Given the description of an element on the screen output the (x, y) to click on. 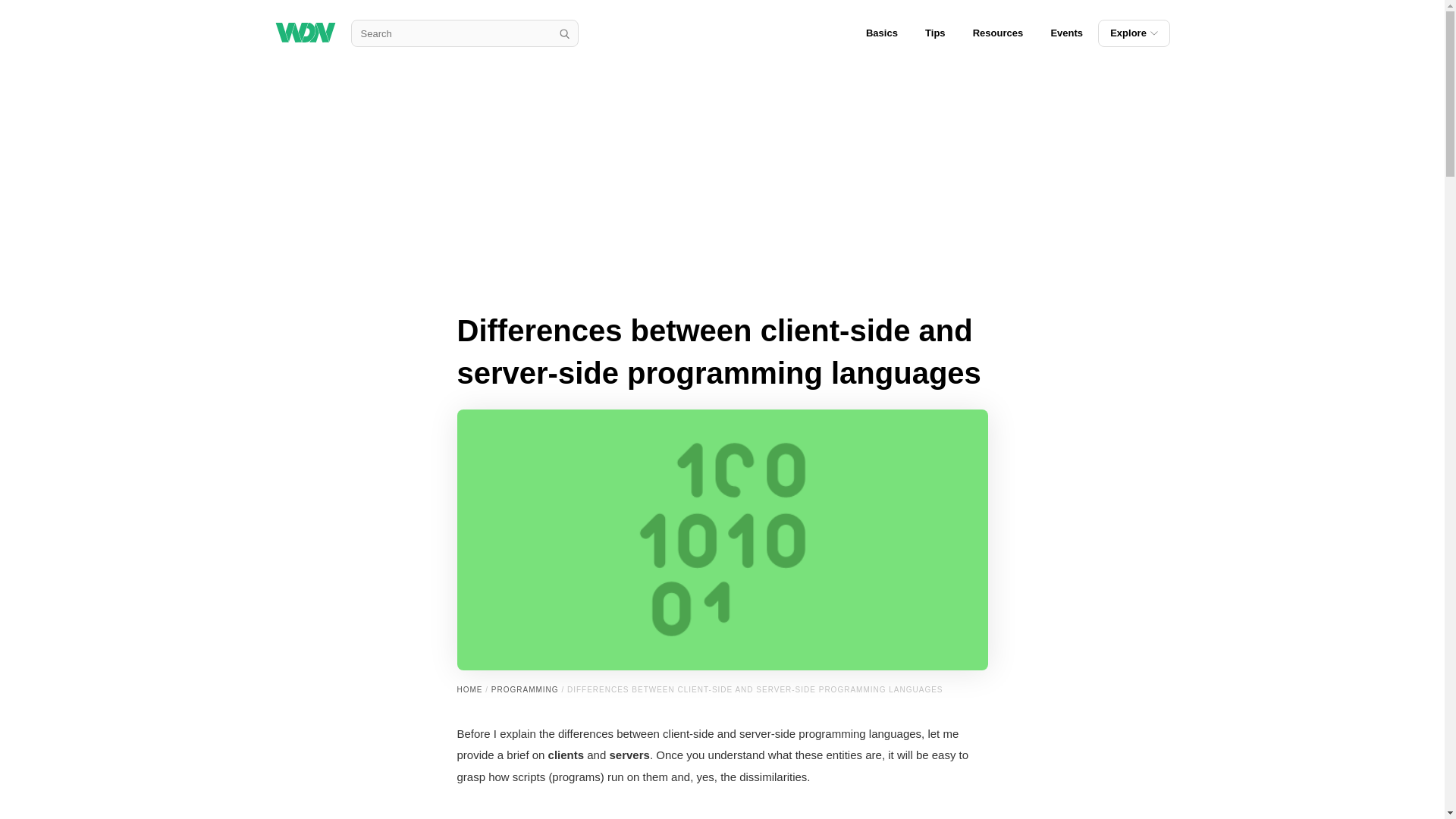
Resources (997, 32)
Basics (881, 32)
HOME (469, 689)
Events (1066, 32)
Web Developers Notes (304, 32)
Tips (935, 32)
PROGRAMMING (525, 689)
